Given the description of an element on the screen output the (x, y) to click on. 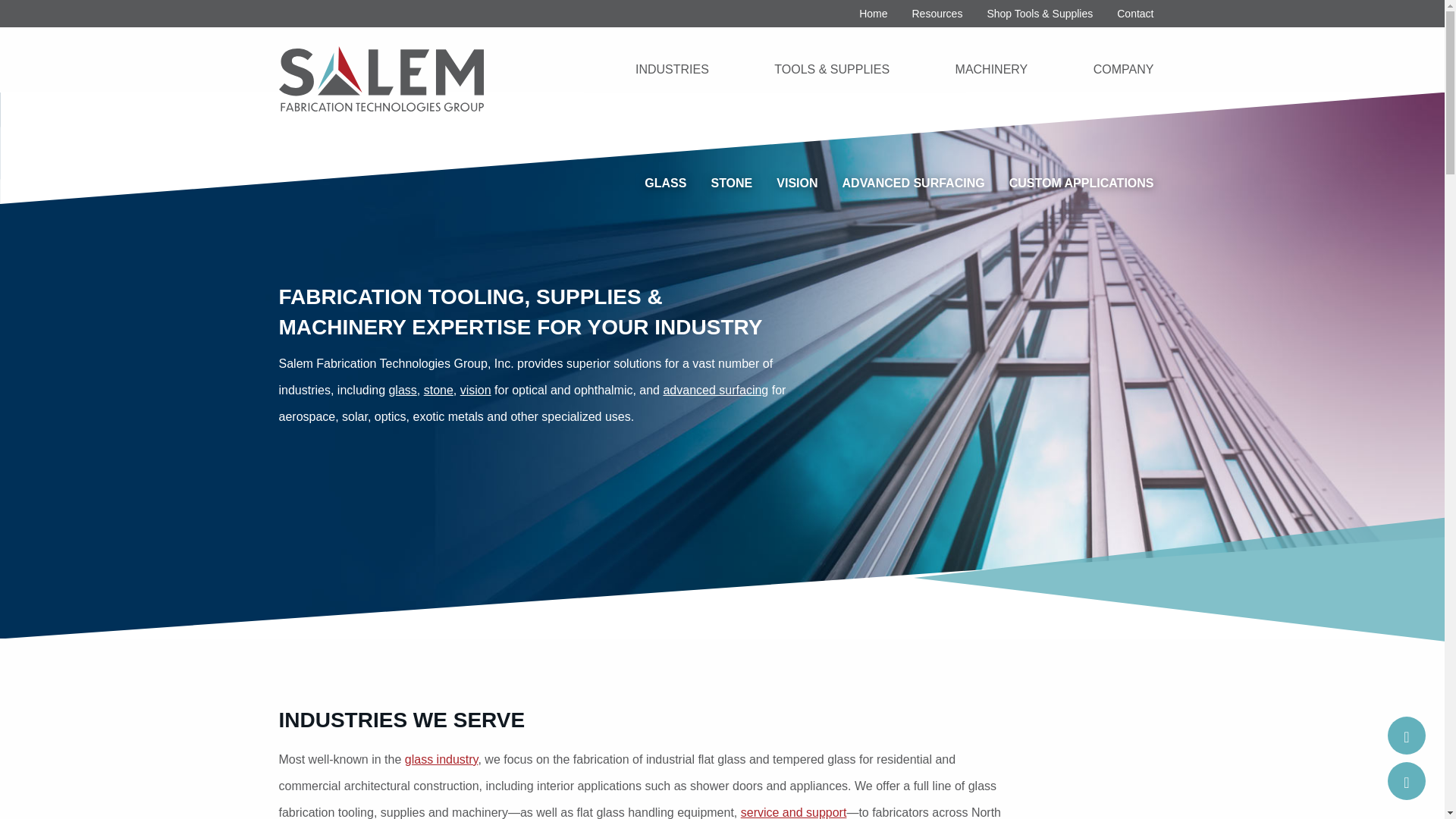
MACHINERY (992, 68)
INDUSTRIES (671, 68)
Contact (1135, 13)
Home (873, 13)
Contact (1406, 781)
Contact (1406, 735)
Resources (936, 13)
COMPANY (1123, 68)
Flat Glass (441, 758)
